Given the description of an element on the screen output the (x, y) to click on. 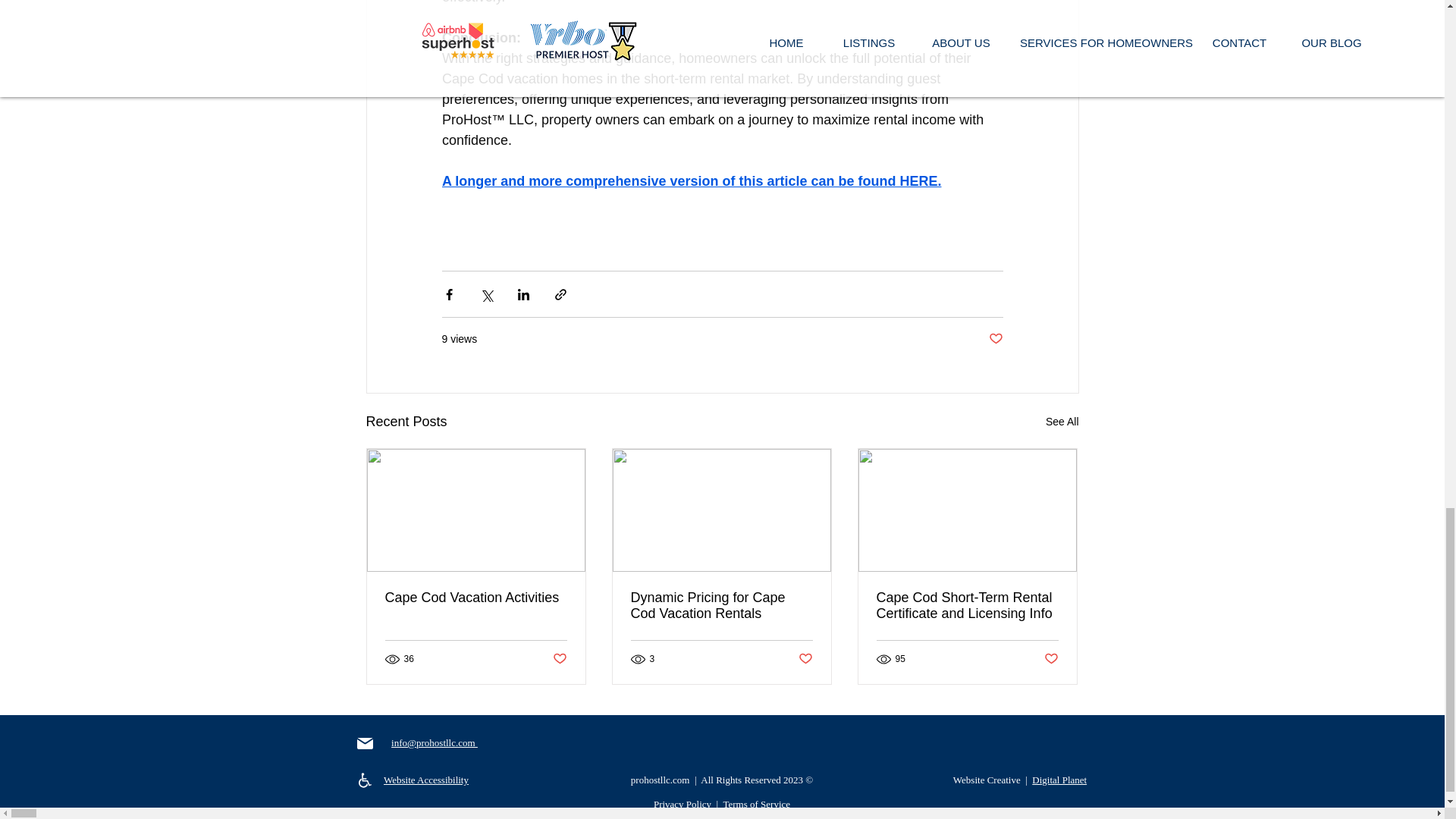
Post not marked as liked (1050, 659)
Post not marked as liked (995, 339)
Terms of Service (756, 803)
See All (1061, 422)
Cape Cod Vacation Activities (476, 597)
Digital Planet (1059, 779)
Dynamic Pricing for Cape Cod Vacation Rentals (721, 605)
Post not marked as liked (558, 659)
Website Accessibility (426, 779)
Post not marked as liked (804, 659)
Privacy Policy (682, 803)
Cape Cod Short-Term Rental Certificate and Licensing Info (967, 605)
